Given the description of an element on the screen output the (x, y) to click on. 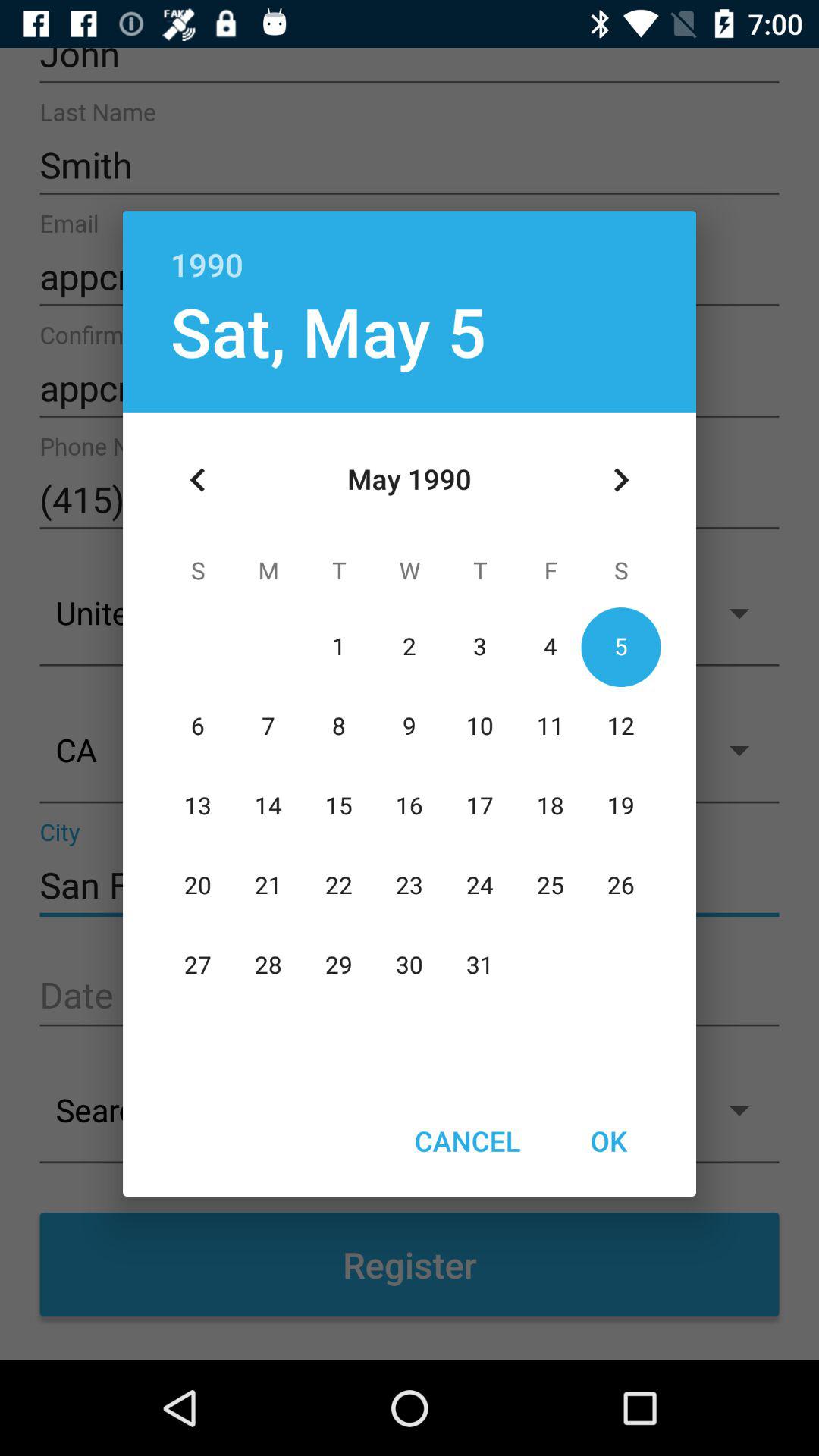
press item below 1990 item (620, 479)
